Given the description of an element on the screen output the (x, y) to click on. 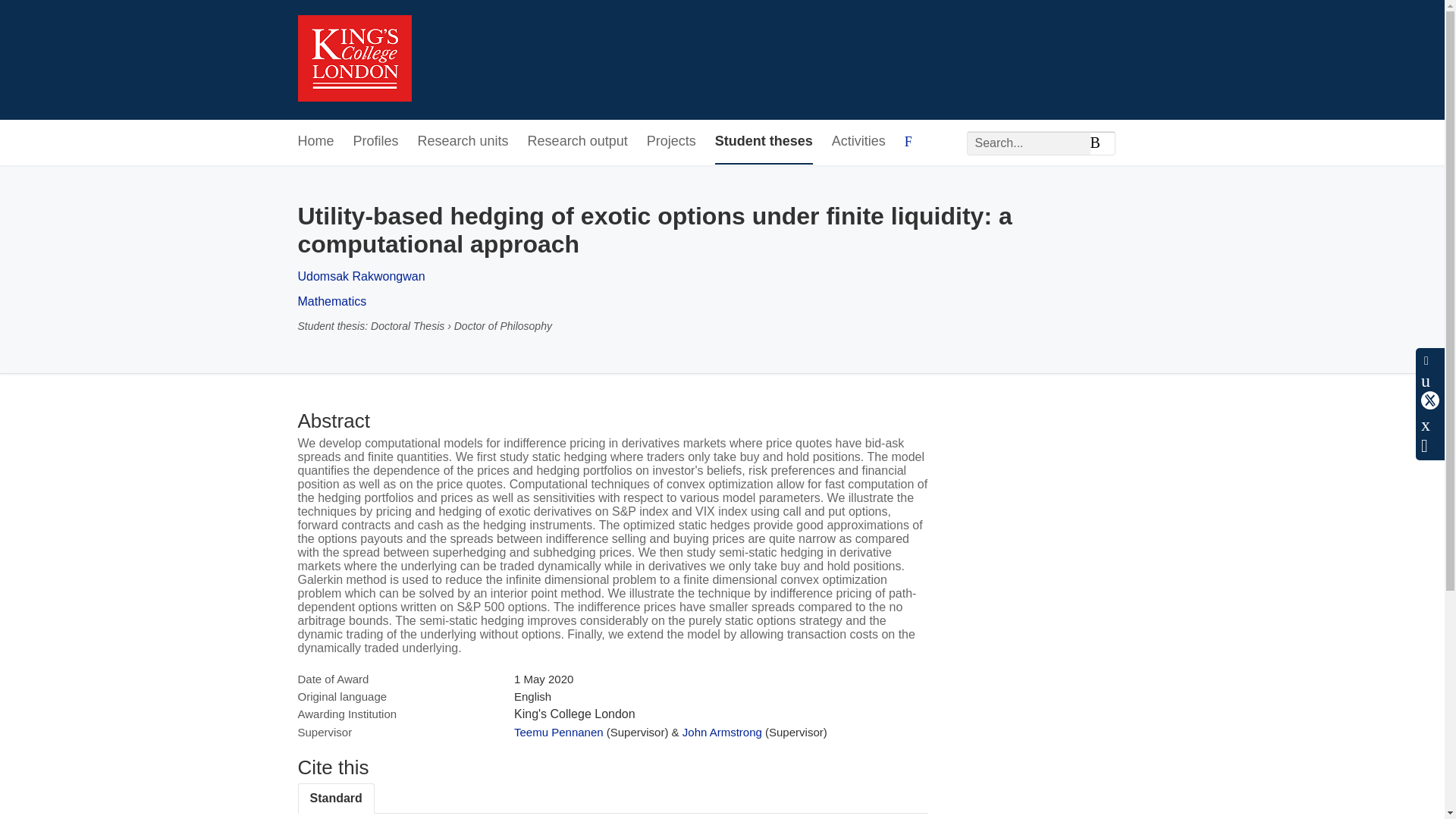
Mathematics (331, 300)
Udomsak Rakwongwan (361, 276)
John Armstrong (721, 731)
Profiles (375, 141)
Student theses (763, 141)
Activities (858, 141)
Research output (577, 141)
King's College London Home (353, 59)
Research units (462, 141)
